Given the description of an element on the screen output the (x, y) to click on. 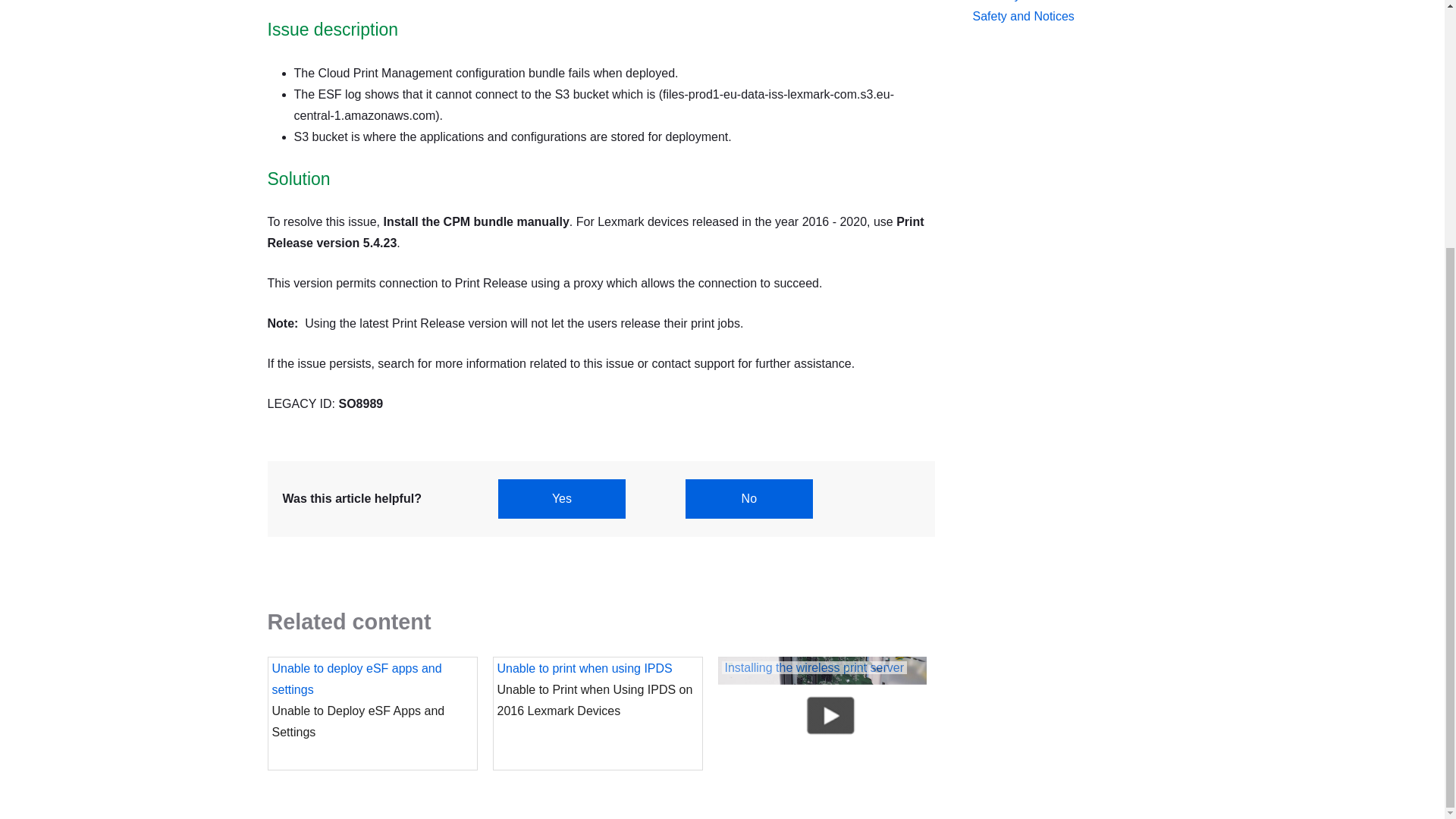
Opens a new tab for Glossary (1051, 2)
Opens a new tab for Installing the wireless print server (824, 737)
Glossary (1051, 2)
No (748, 498)
Safety and Notices (1051, 16)
Opens a new tab for Safety and Notices (1051, 16)
Installing the wireless print server  (824, 737)
Yes (561, 498)
